Given the description of an element on the screen output the (x, y) to click on. 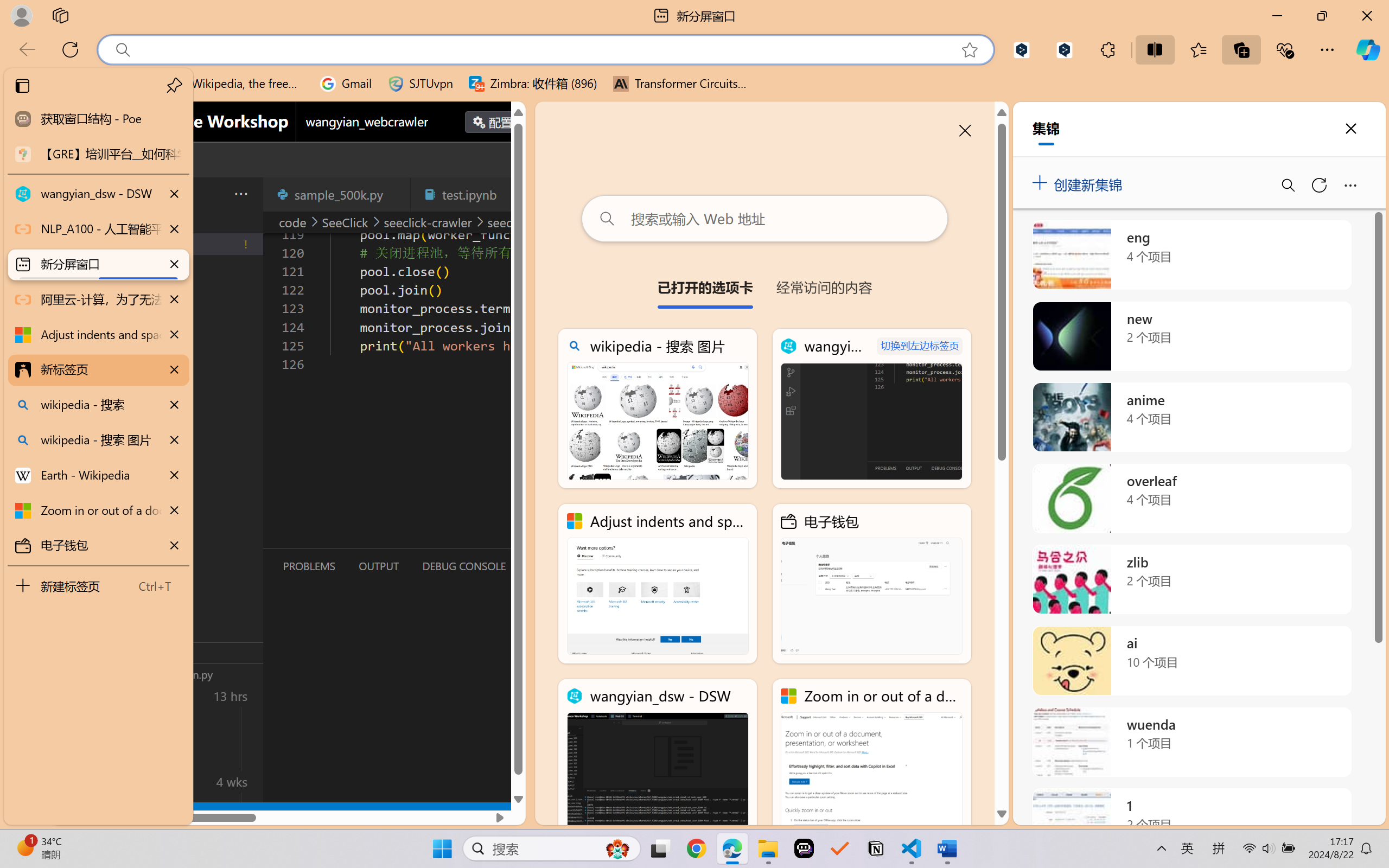
Outline Section (179, 652)
Explorer (Ctrl+Shift+E) (73, 234)
Accounts - Sign in requested (73, 732)
Run and Debug (Ctrl+Shift+D) (73, 375)
Adjust indents and spacing - Microsoft Support (657, 583)
Gmail (345, 83)
